Given the description of an element on the screen output the (x, y) to click on. 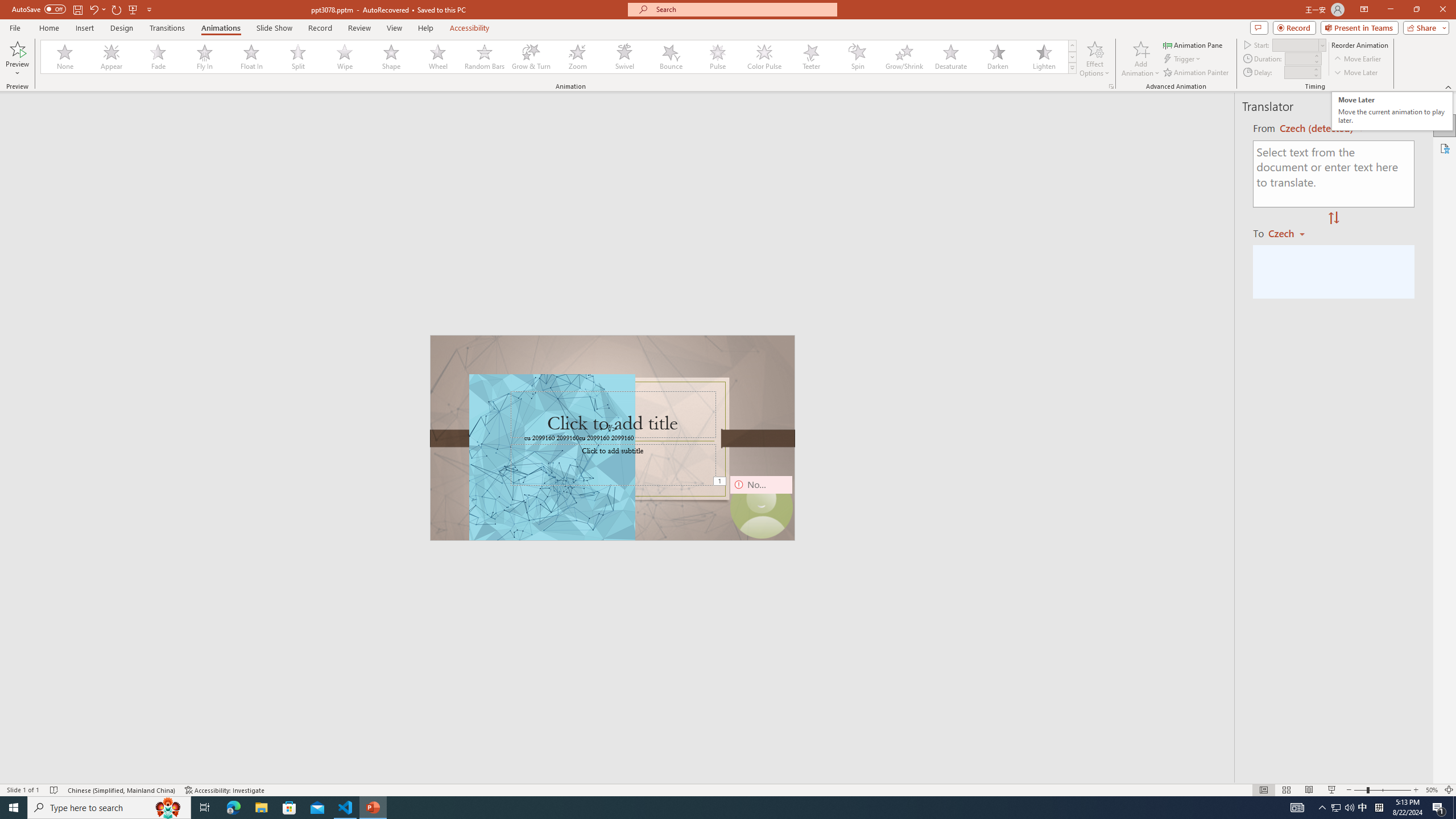
Animation, sequence 1, on Camera 9 (720, 481)
Shape (391, 56)
More Options... (1110, 85)
Animation Pane (1193, 44)
Move Later (1355, 72)
Swap "from" and "to" languages. (1333, 218)
